Given the description of an element on the screen output the (x, y) to click on. 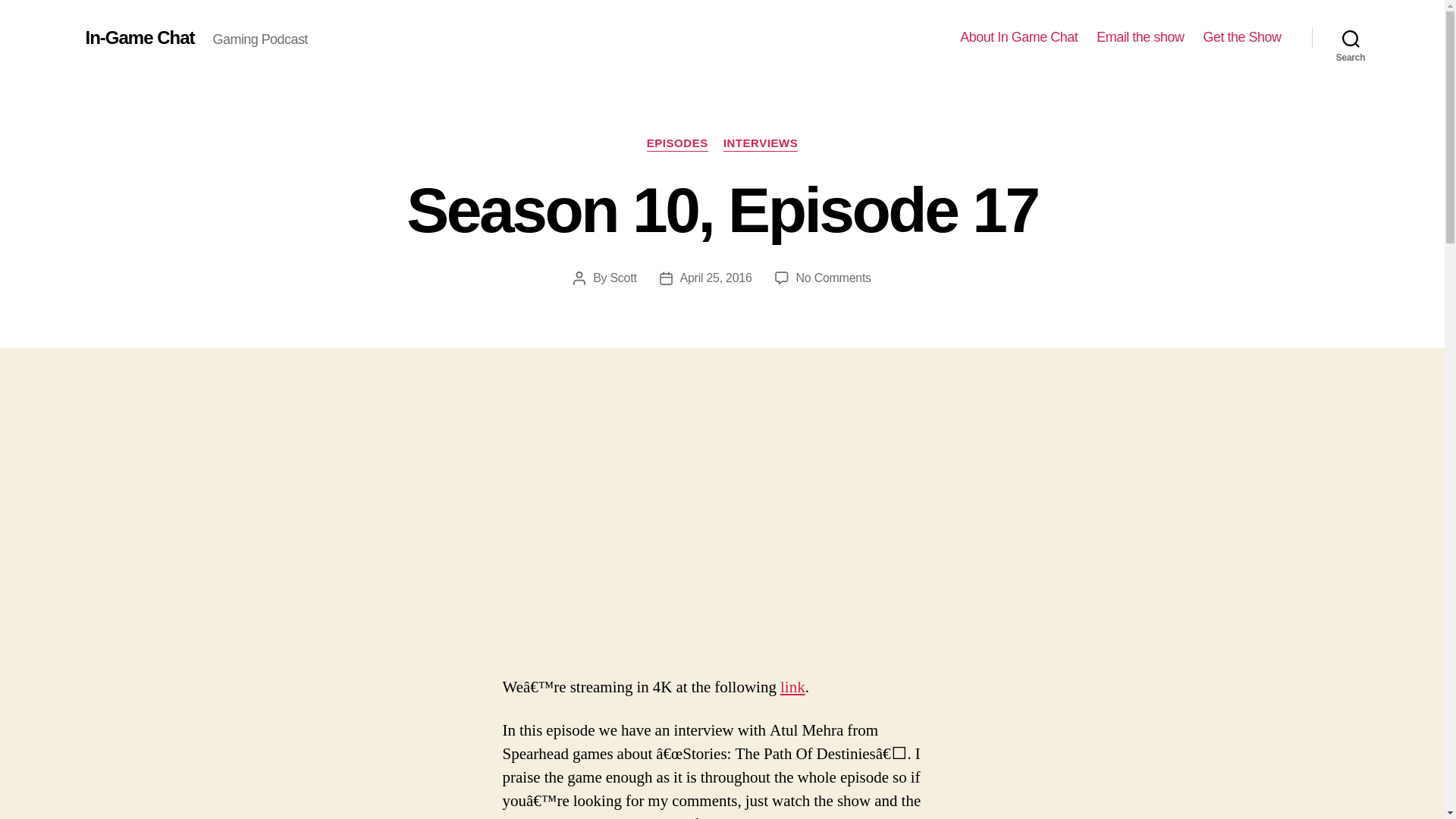
In-Game Chat (138, 37)
April 25, 2016 (833, 277)
INTERVIEWS (715, 277)
Email the show (760, 143)
Get the Show (1139, 37)
Search (1241, 37)
EPISODES (1350, 37)
Scott (676, 143)
About In Game Chat (623, 277)
link (1018, 37)
In-Game Chat: Season 10, Episode 17 (792, 687)
